Given the description of an element on the screen output the (x, y) to click on. 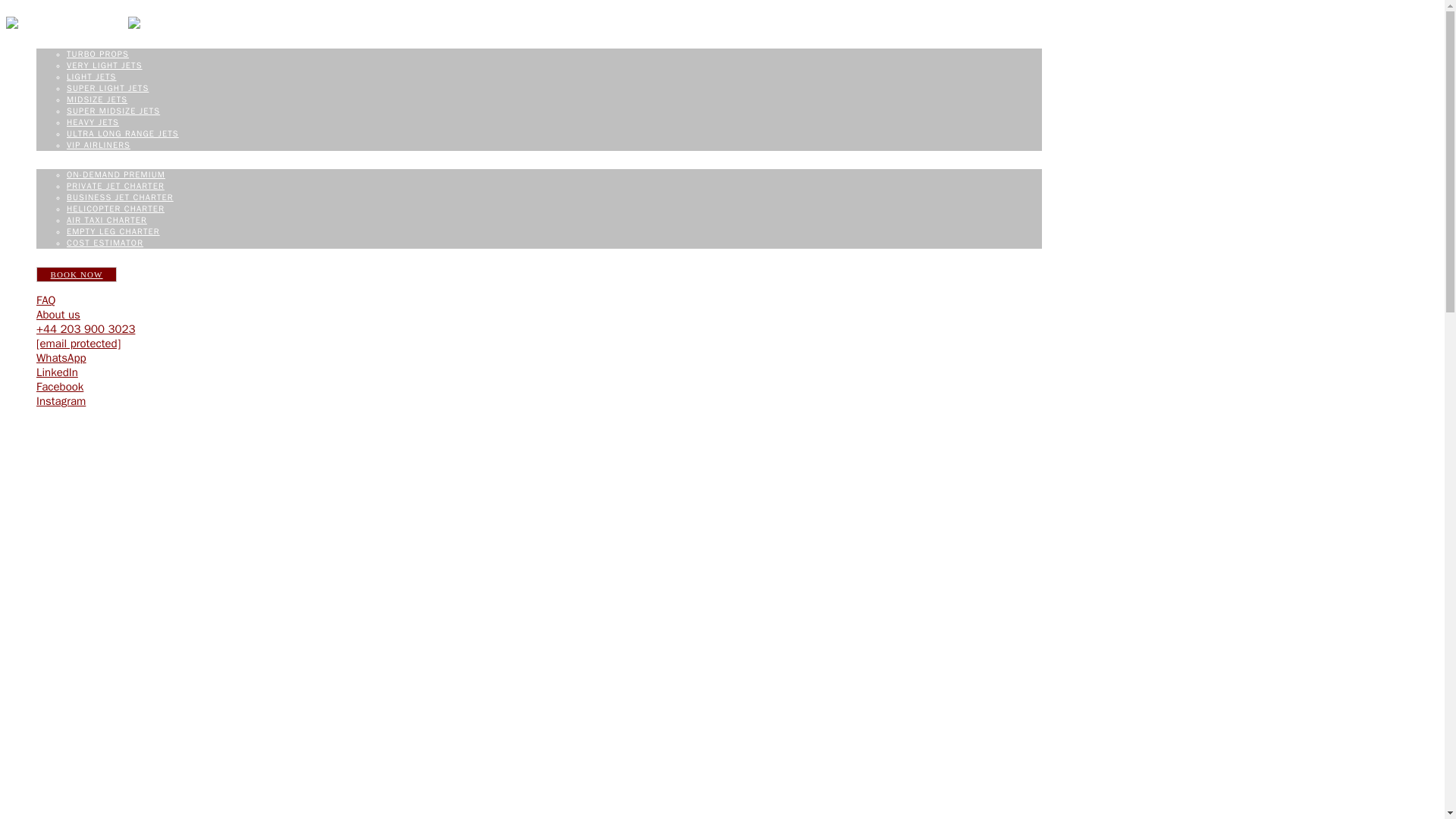
Instagram (60, 400)
HELICOPTER CHARTER (115, 208)
PRIVATE JETS (68, 43)
TURBO PROPS (97, 53)
PRIVATE JET CHARTER (115, 185)
HEAVY JETS (92, 122)
SUPER LIGHT JETS (107, 87)
About us (58, 314)
COST ESTIMATOR (104, 242)
FAQ (45, 300)
